Given the description of an element on the screen output the (x, y) to click on. 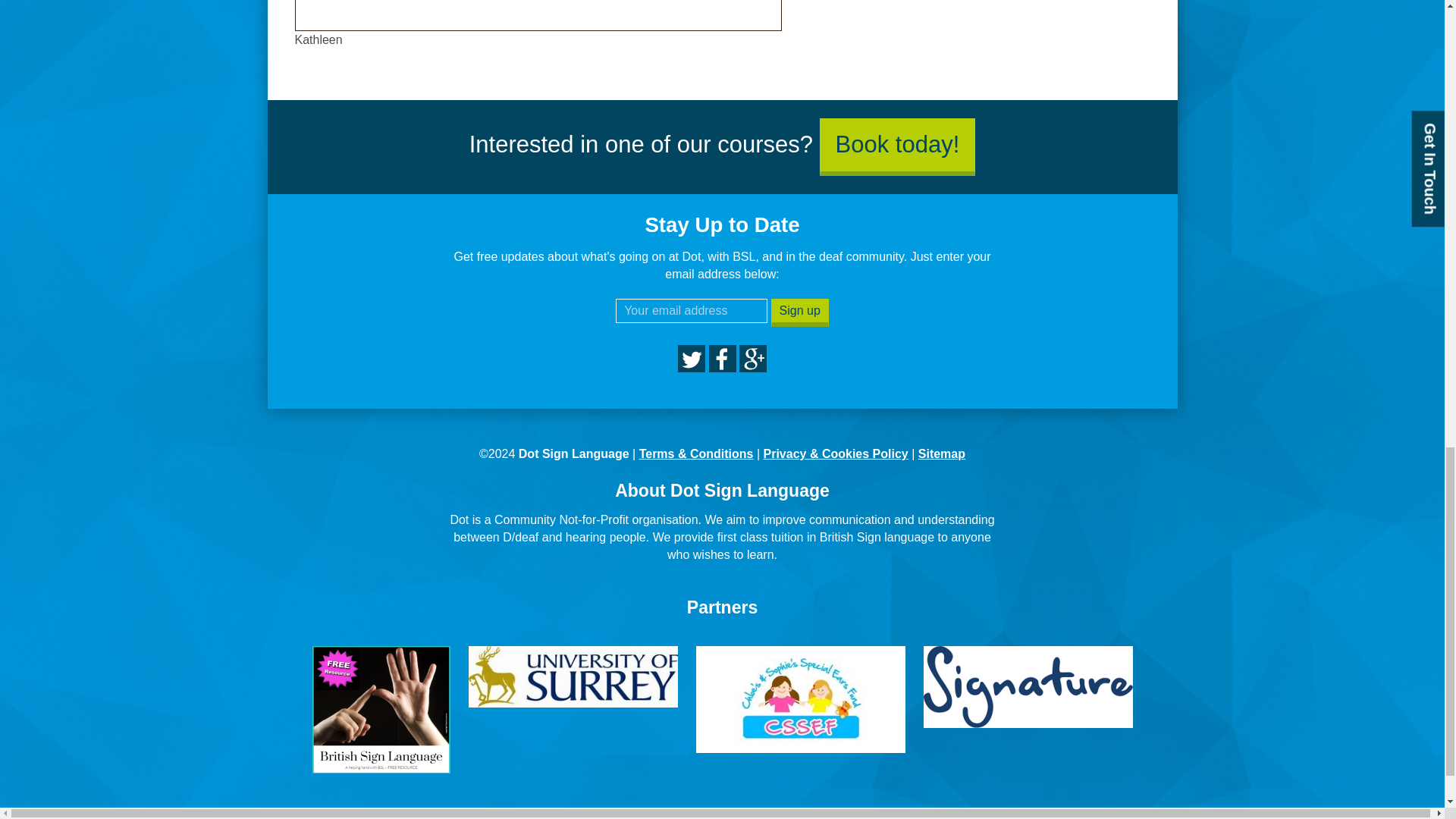
Interested in one of our courses? Book today! (721, 144)
Dot Miles Bio Video (537, 11)
Sign up (799, 312)
Sign up (799, 312)
Sitemap (941, 453)
